Given the description of an element on the screen output the (x, y) to click on. 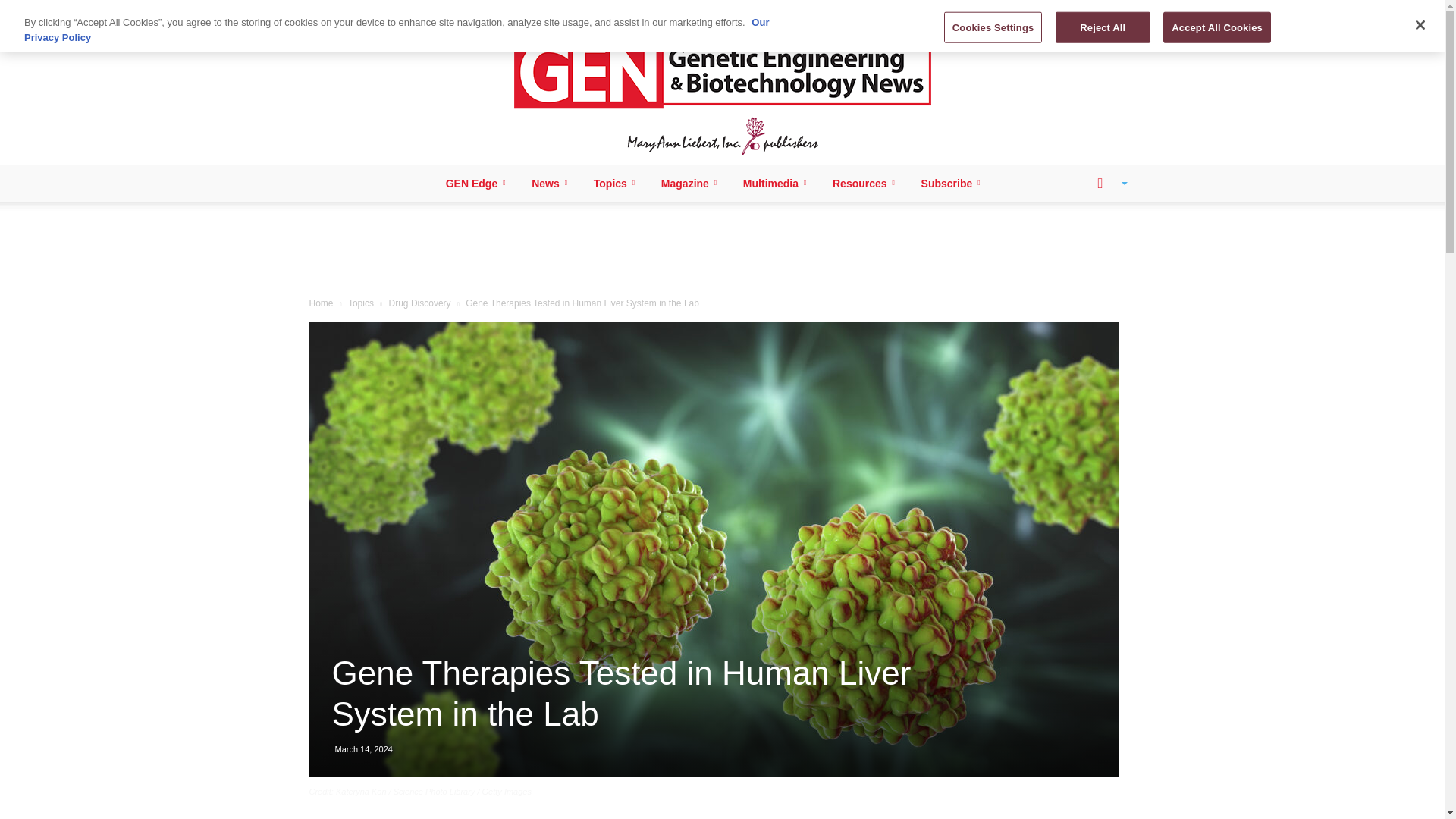
3rd party ad content (722, 251)
Youtube (429, 10)
Facebook (328, 10)
Twitter (403, 10)
RSS (379, 10)
View all posts in Topics (360, 303)
Linkedin (353, 10)
View all posts in Drug Discovery (419, 303)
